Given the description of an element on the screen output the (x, y) to click on. 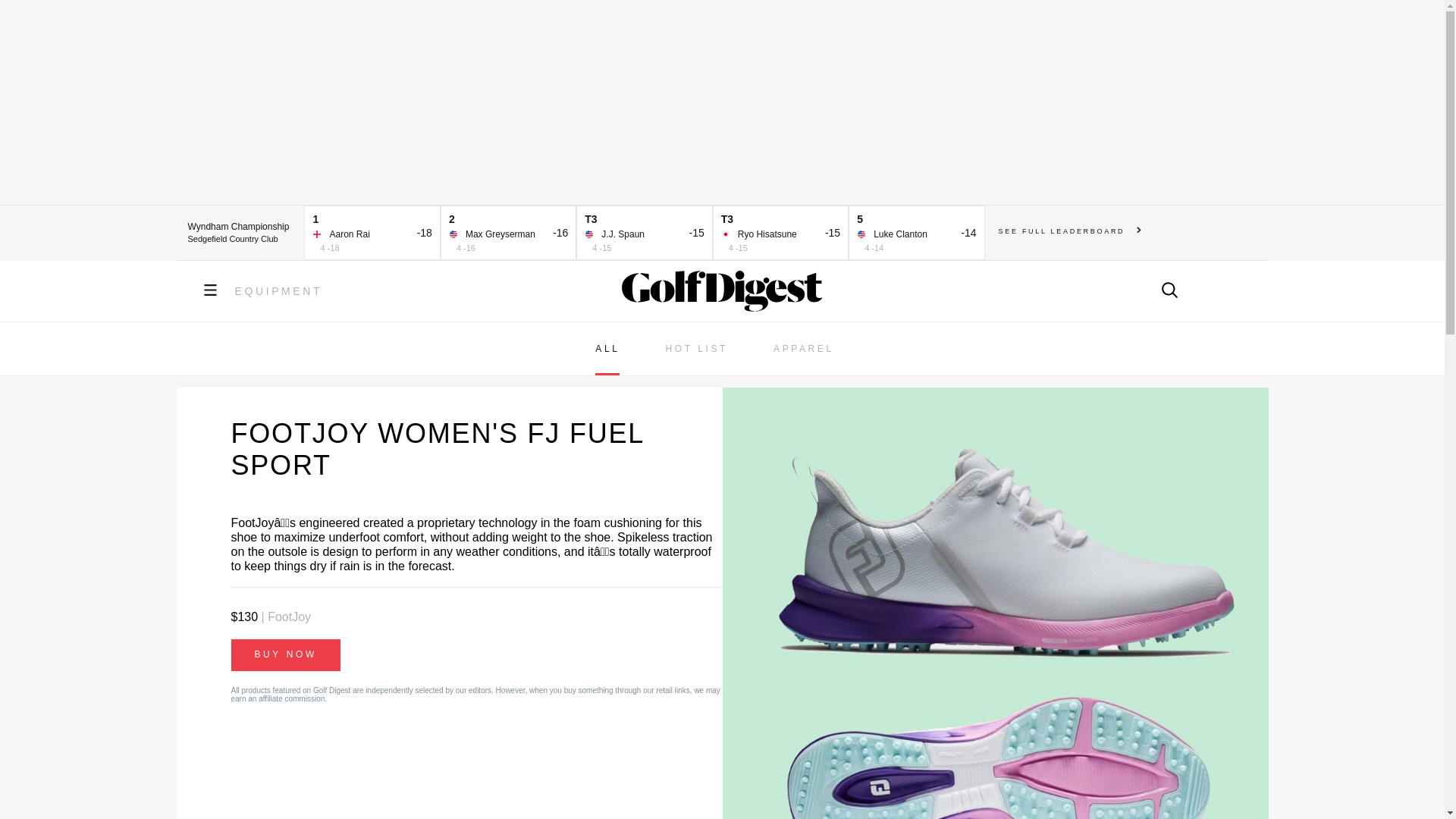
APPAREL (803, 348)
HOT LIST (696, 348)
EQUIPMENT (278, 291)
SEE FULL LEADERBOARD (1069, 230)
